Given the description of an element on the screen output the (x, y) to click on. 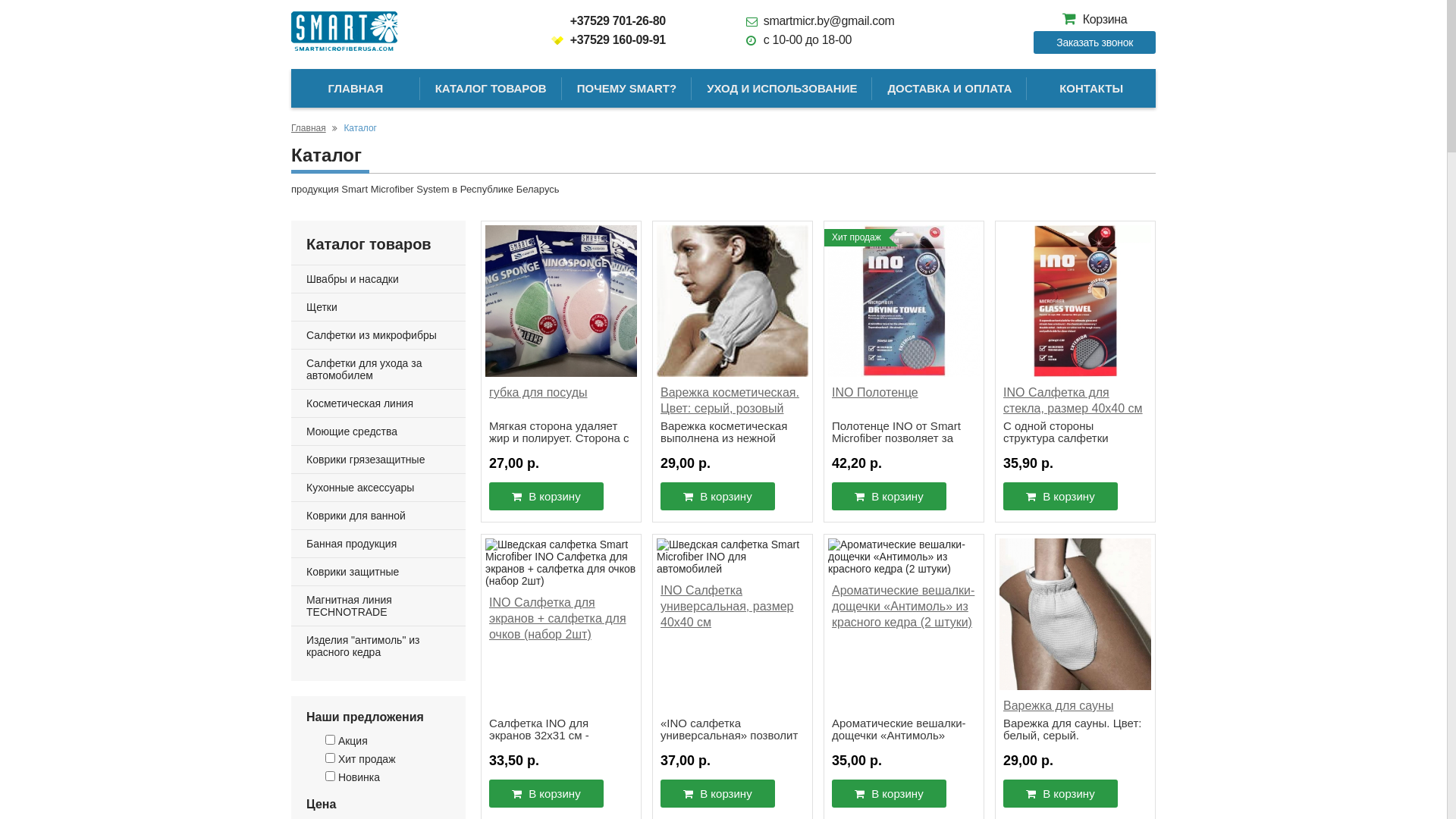
+37529 701-26-80 Element type: text (608, 20)
+37529 160-09-91 Element type: text (608, 39)
